Given the description of an element on the screen output the (x, y) to click on. 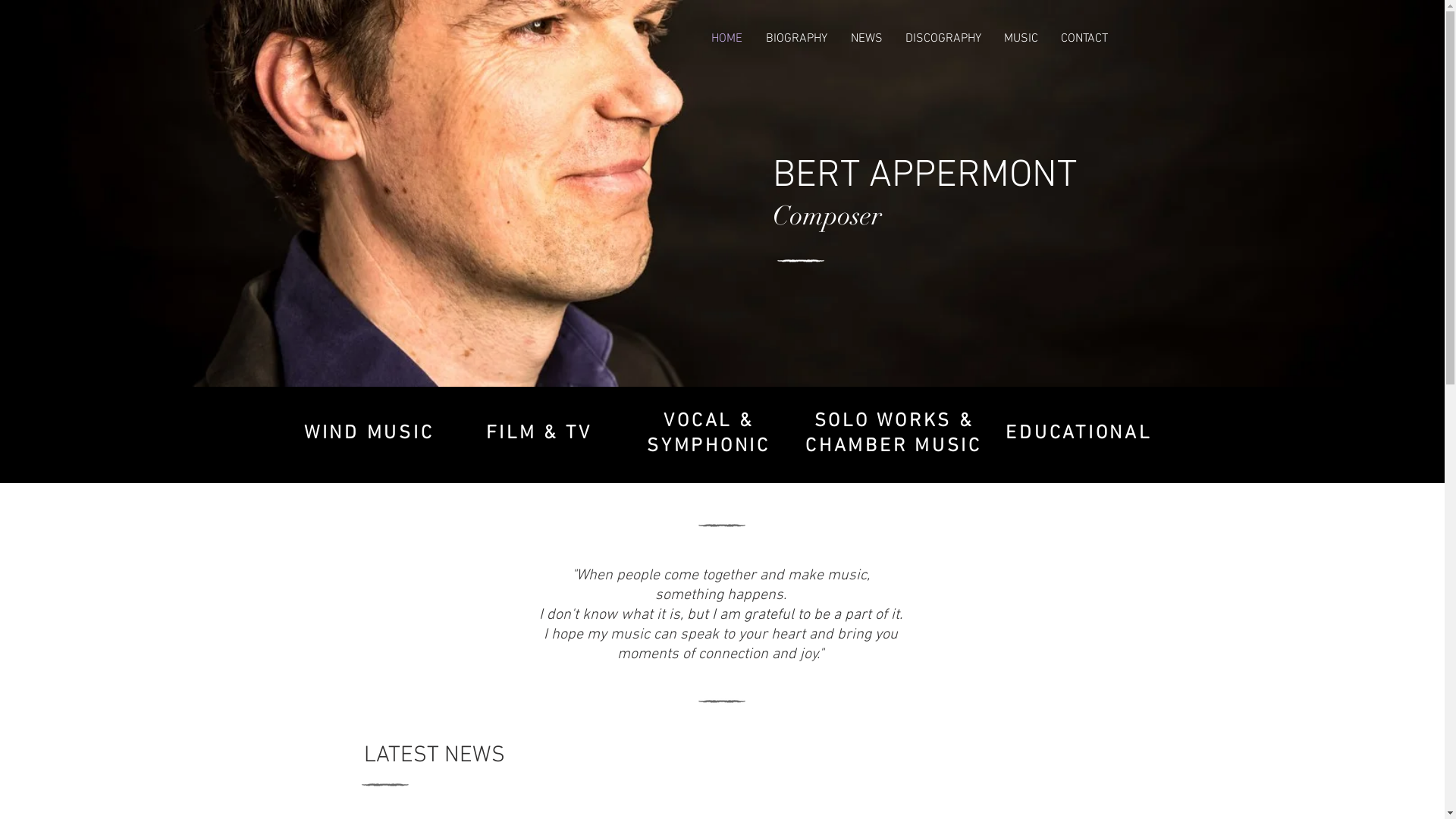
NEWS Element type: text (865, 38)
WIND MUSIC Element type: text (369, 431)
BERT APPERMONT Element type: text (923, 174)
DISCOGRAPHY Element type: text (942, 38)
BIOGRAPHY Element type: text (795, 38)
SOLO WORKS & CHAMBER MUSIC Element type: text (893, 431)
CONTACT Element type: text (1084, 38)
Composer Element type: text (826, 216)
HOME Element type: text (726, 38)
VOCAL & SYMPHONIC Element type: text (708, 431)
FILM & TV Element type: text (539, 431)
EDUCATIONAL Element type: text (1078, 431)
MUSIC Element type: text (1019, 38)
